Given the description of an element on the screen output the (x, y) to click on. 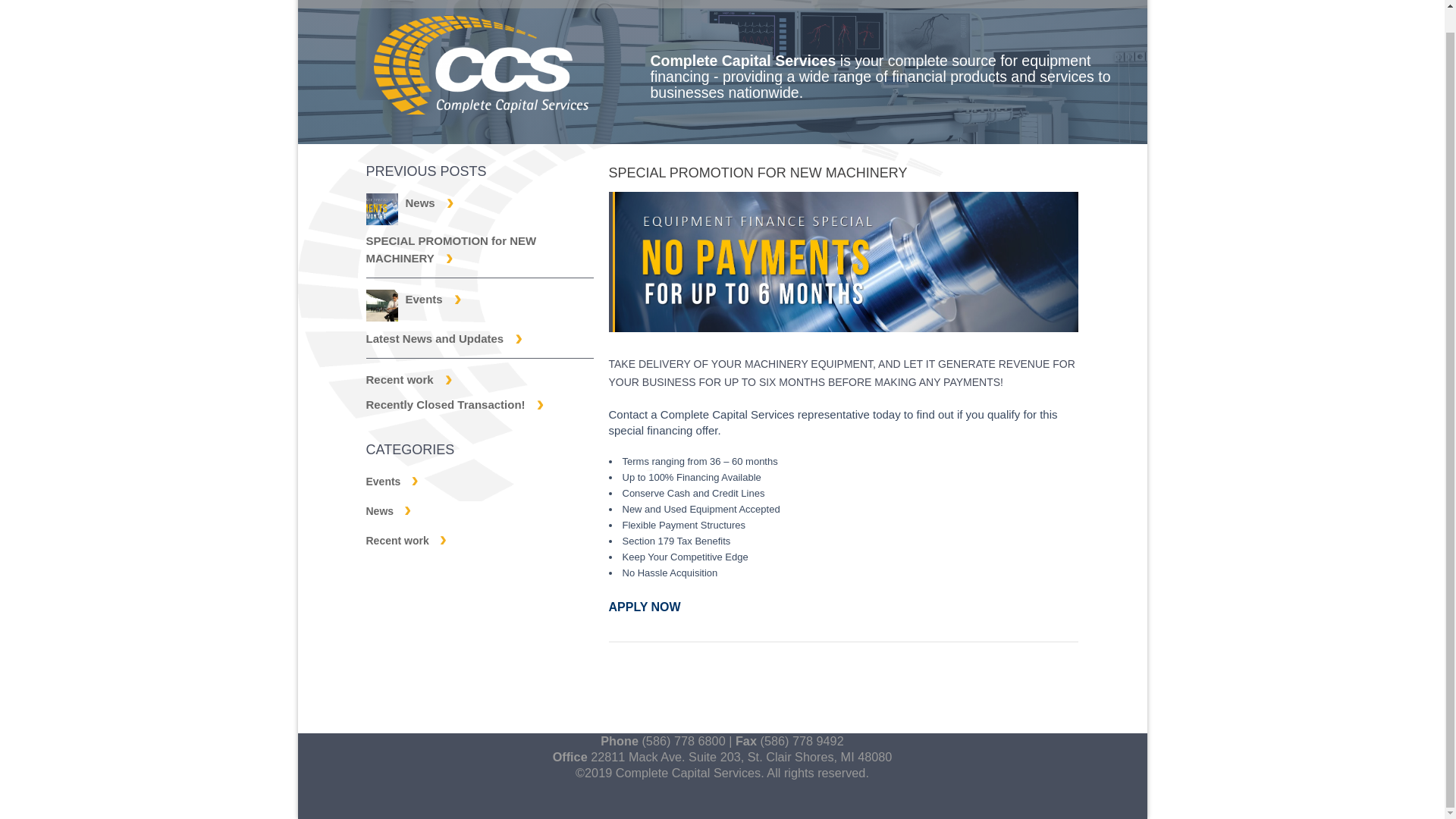
APPLY NOW (643, 606)
News (387, 510)
SERVICES (639, 4)
Events (391, 481)
INDUSTRIES (766, 4)
Recent work (405, 540)
COMPANY (521, 4)
APPLY (877, 4)
HOME (421, 4)
Latest News and Updates (443, 338)
